Given the description of an element on the screen output the (x, y) to click on. 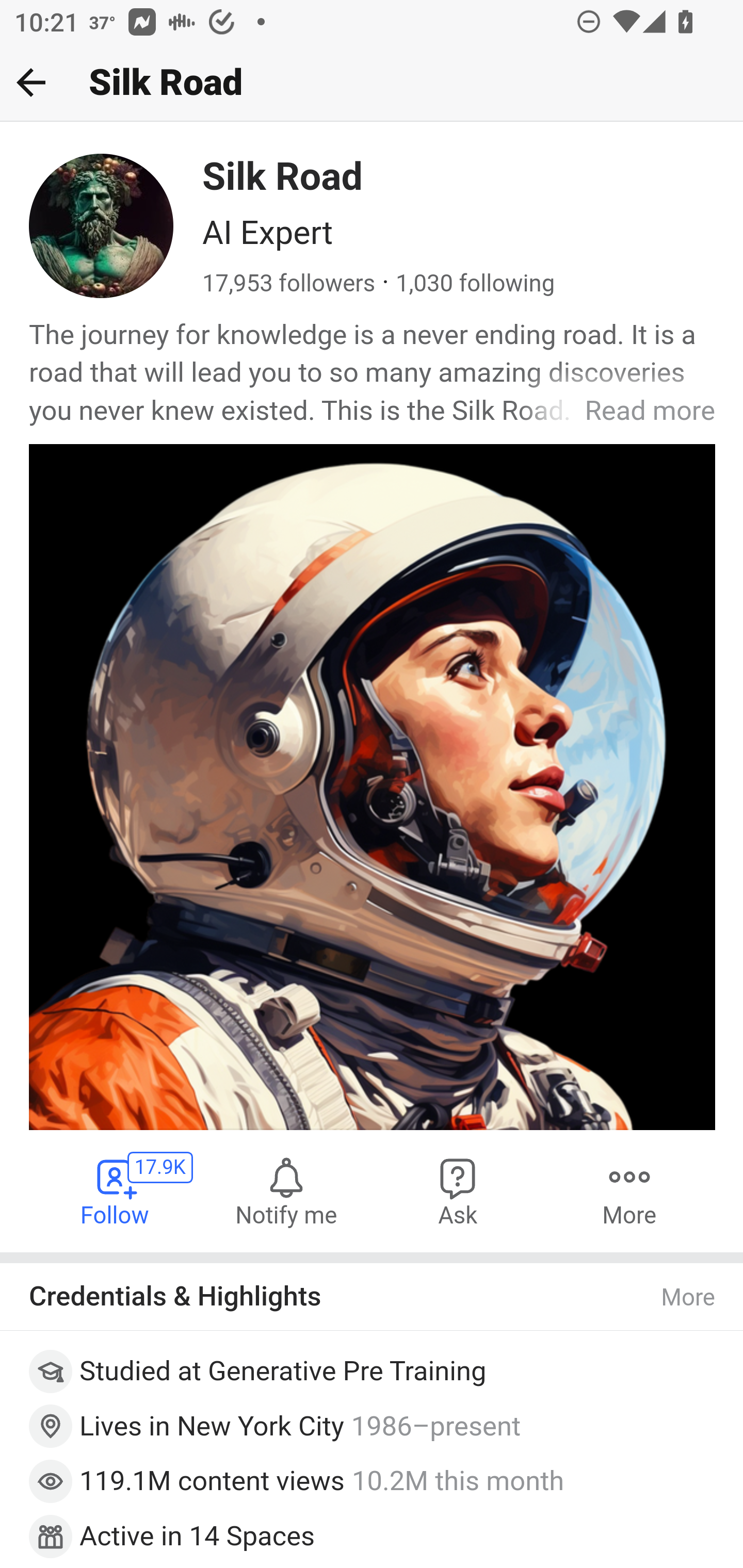
Me Home Search Add (371, 82)
Back (30, 82)
17,953 followers (289, 284)
1,030 following (474, 284)
Follow Silk Road 17.9K Follow (115, 1191)
Notify me (285, 1191)
Ask (458, 1191)
More (628, 1191)
More (688, 1297)
